Given the description of an element on the screen output the (x, y) to click on. 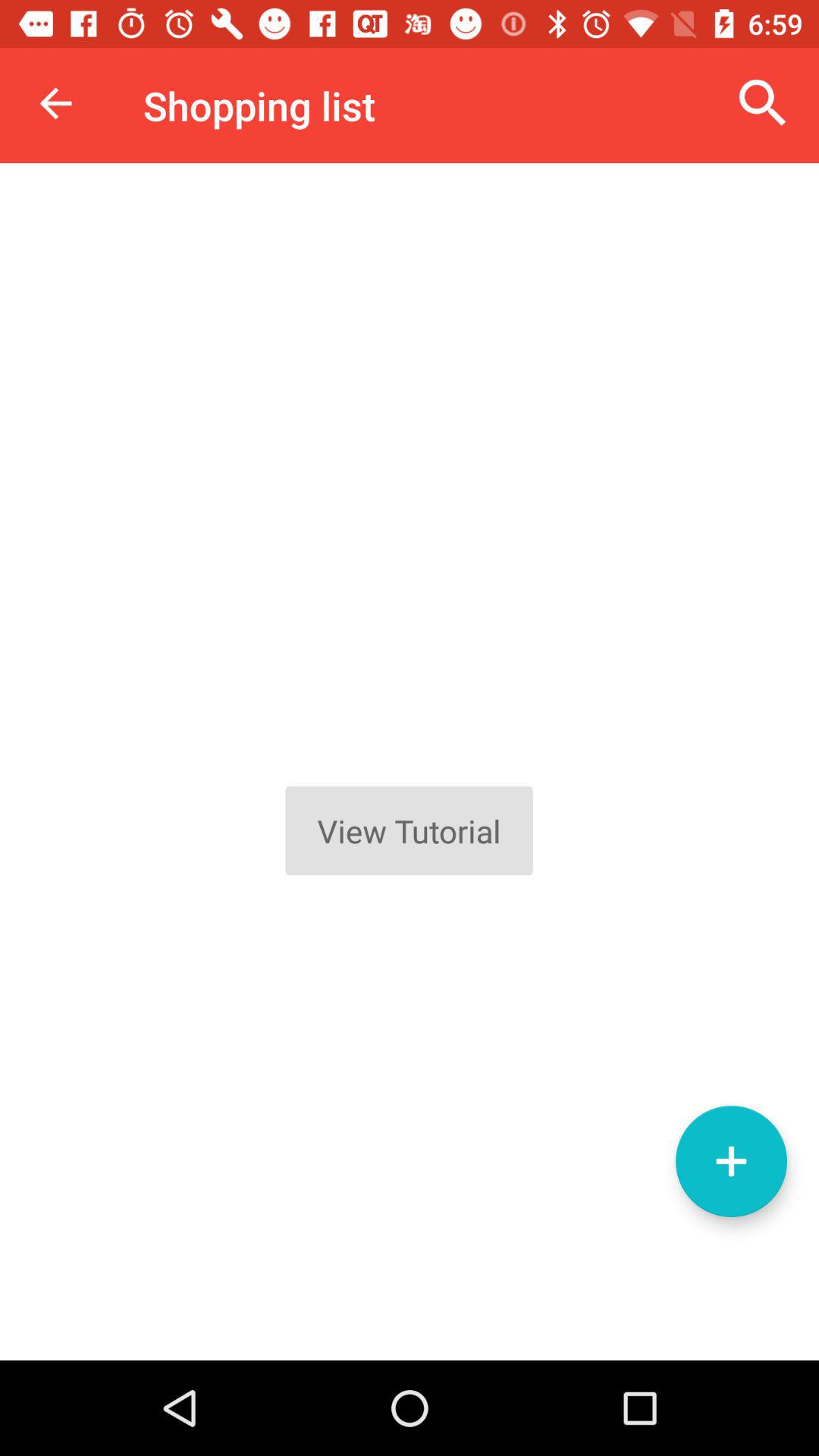
press item to the left of the shopping list (55, 103)
